Given the description of an element on the screen output the (x, y) to click on. 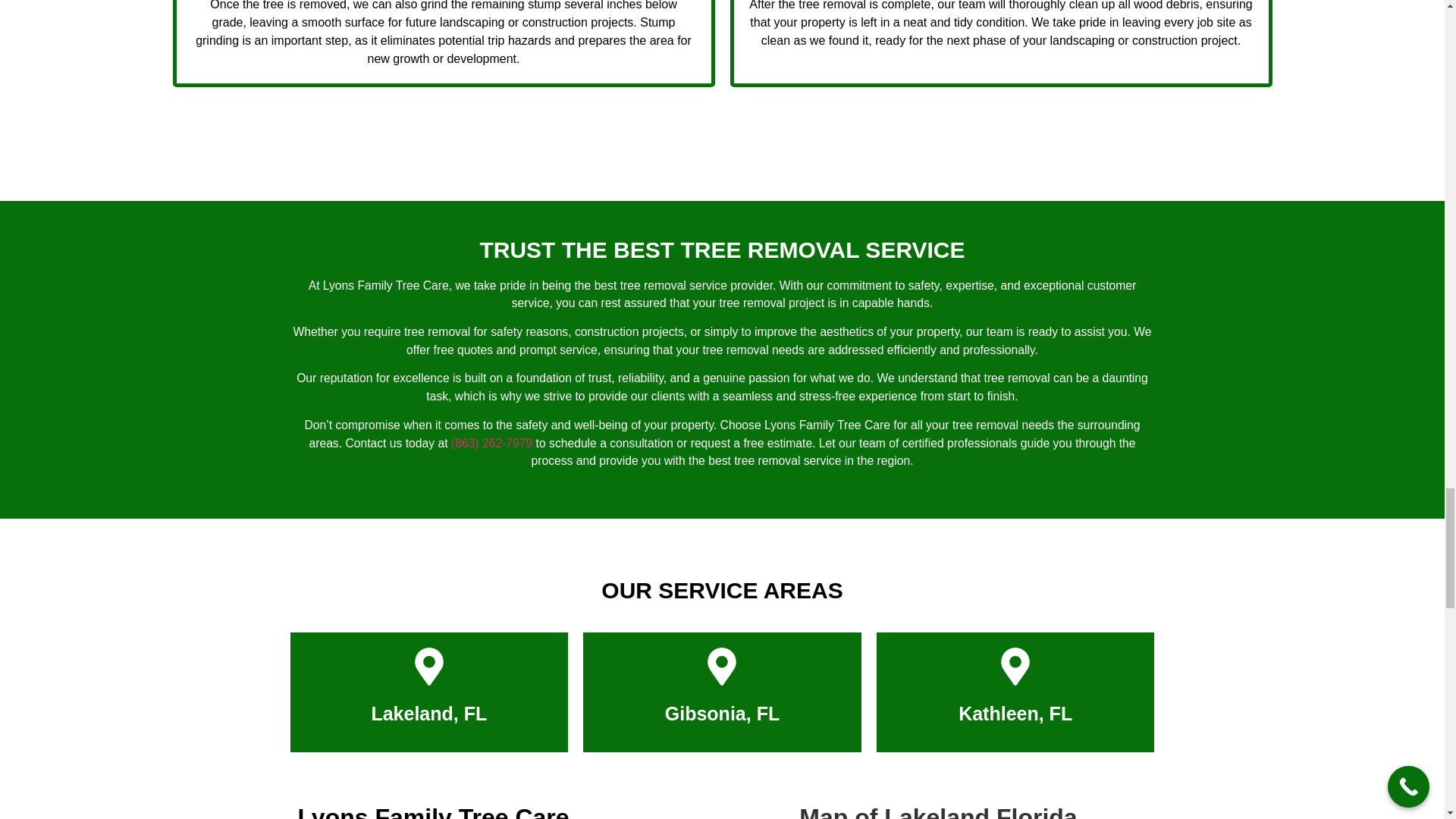
Gibsonia, FL (721, 712)
Kathleen, FL (1014, 712)
Lakeland, FL (428, 712)
